Given the description of an element on the screen output the (x, y) to click on. 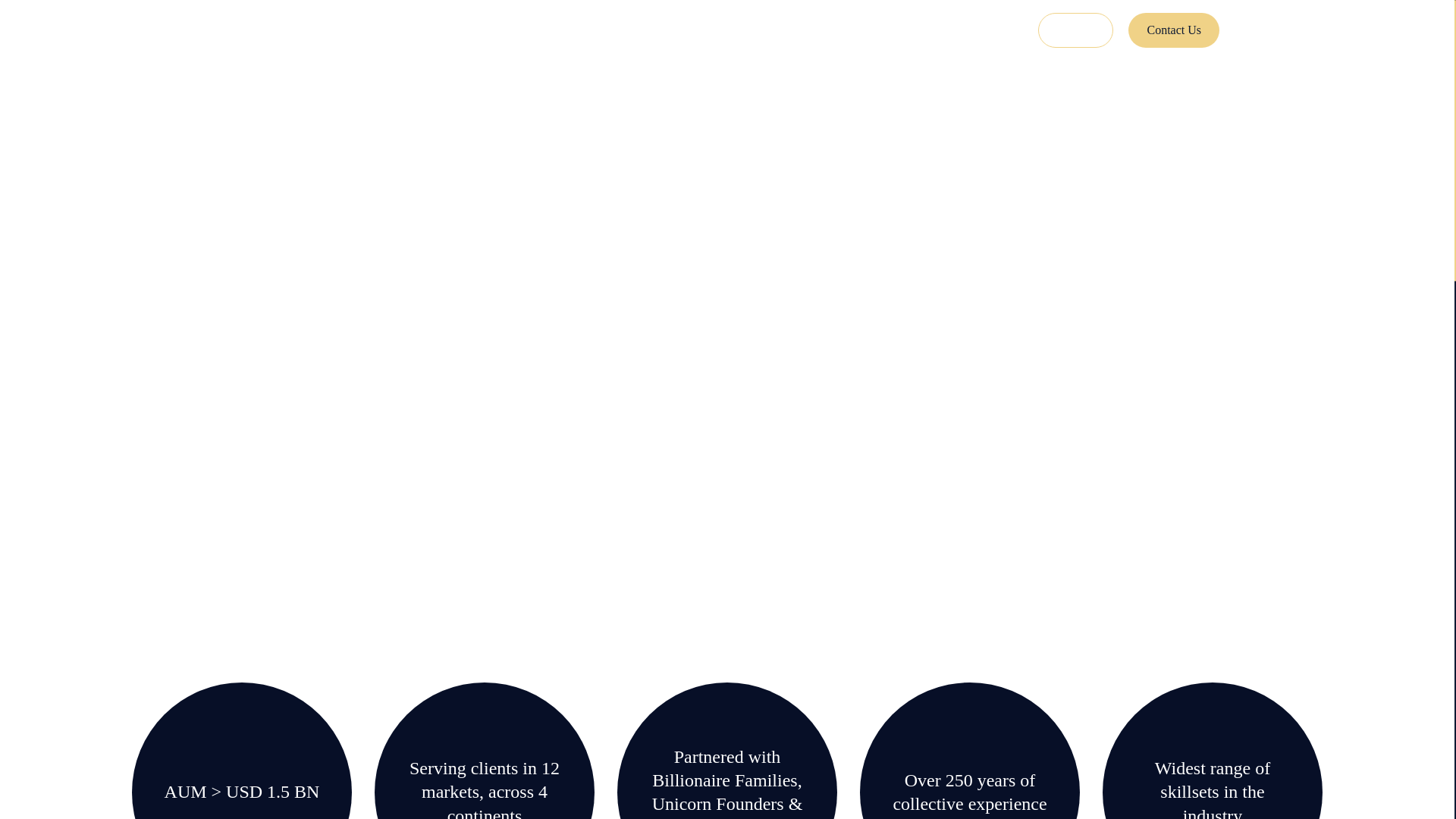
English (1276, 27)
About Us (762, 29)
News (898, 29)
Login (1075, 30)
Team (834, 29)
Contact Us (1174, 30)
